Given the description of an element on the screen output the (x, y) to click on. 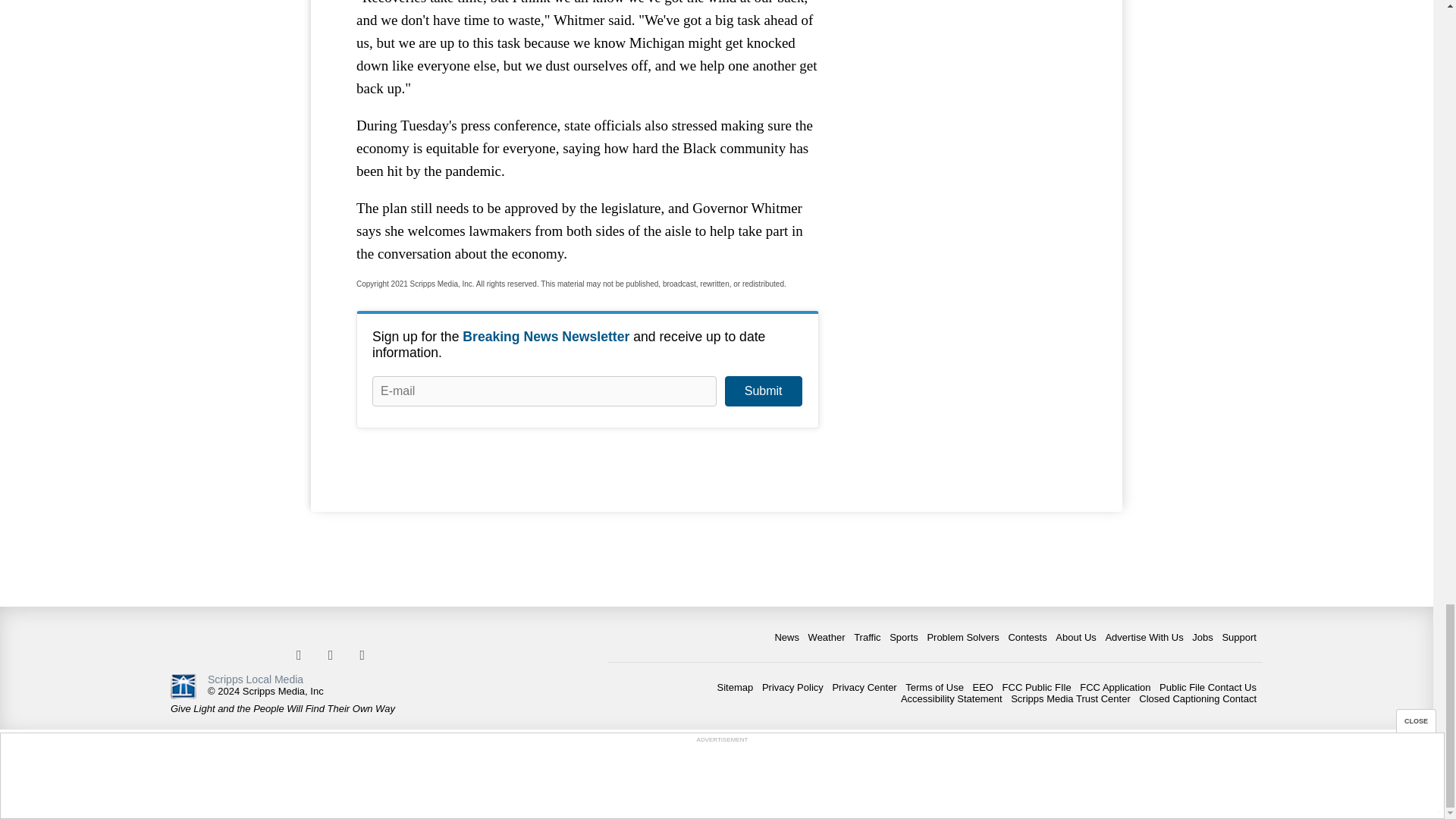
Submit (763, 390)
